Given the description of an element on the screen output the (x, y) to click on. 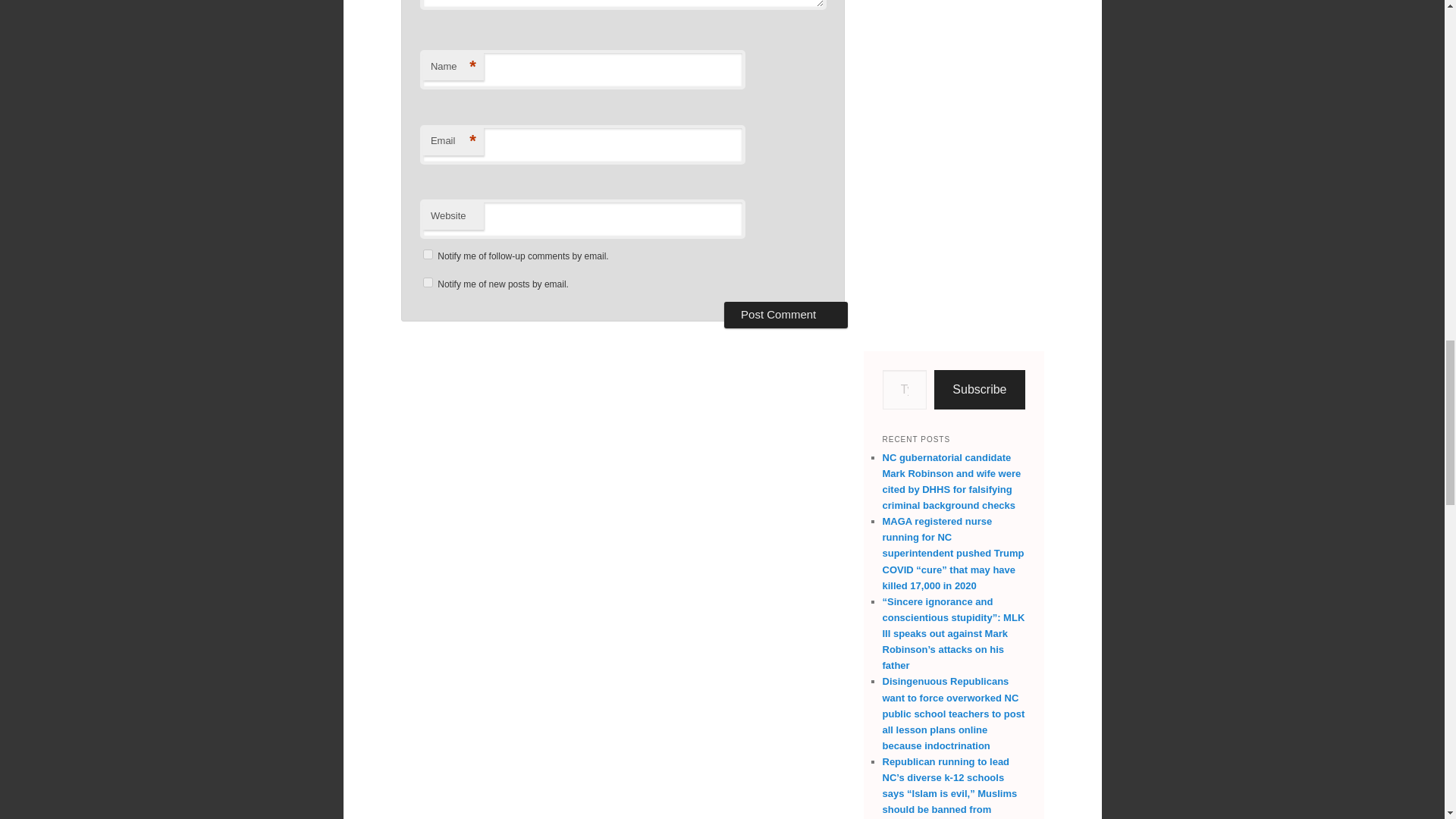
Post Comment (785, 314)
Subscribe (979, 390)
subscribe (427, 282)
subscribe (427, 254)
Please fill in this field. (904, 390)
Post Comment (785, 314)
